Given the description of an element on the screen output the (x, y) to click on. 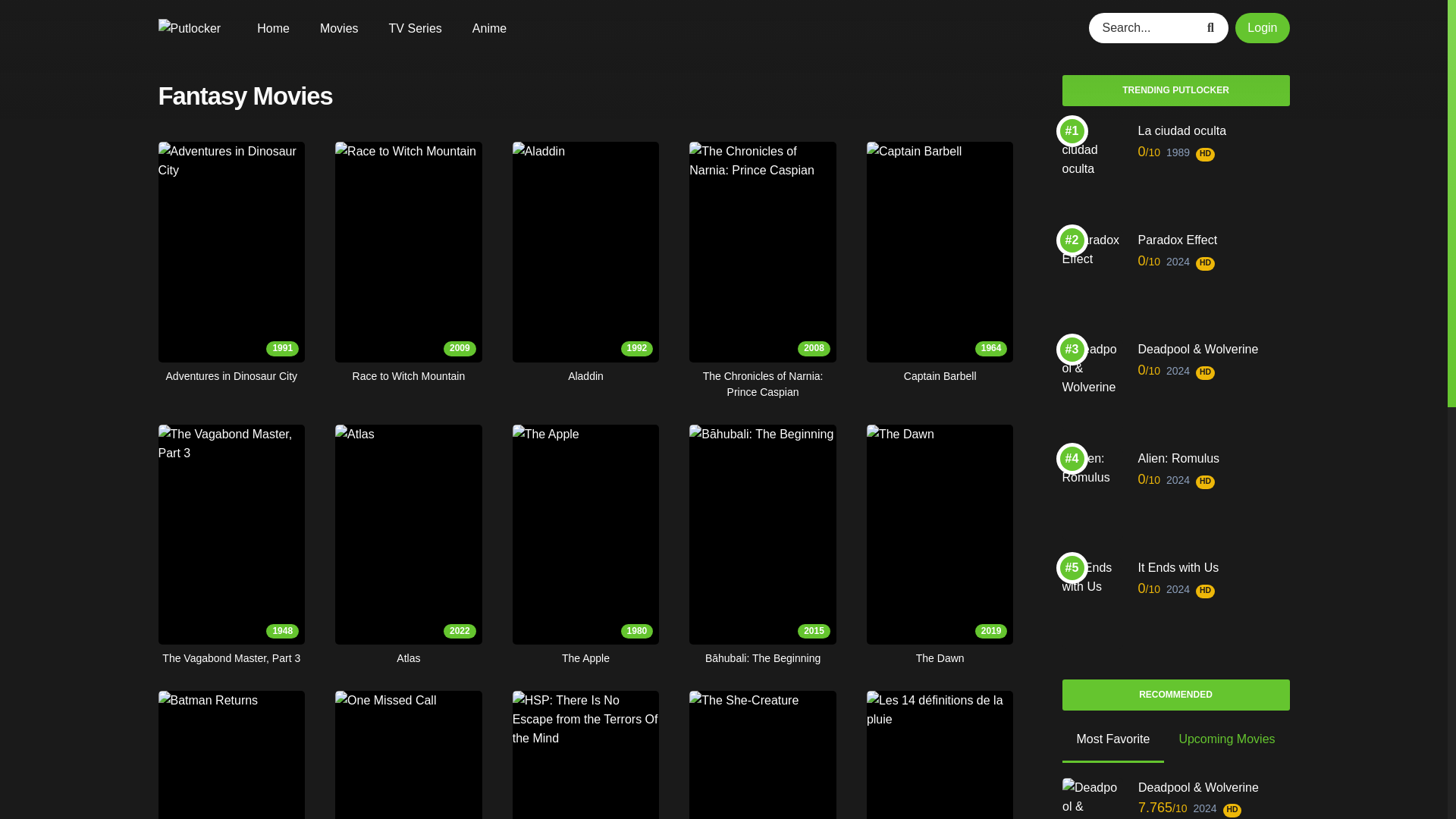
Search (1213, 28)
Anime (488, 28)
TV Series (415, 28)
Movies (339, 28)
Login (1261, 28)
Home (230, 755)
